Given the description of an element on the screen output the (x, y) to click on. 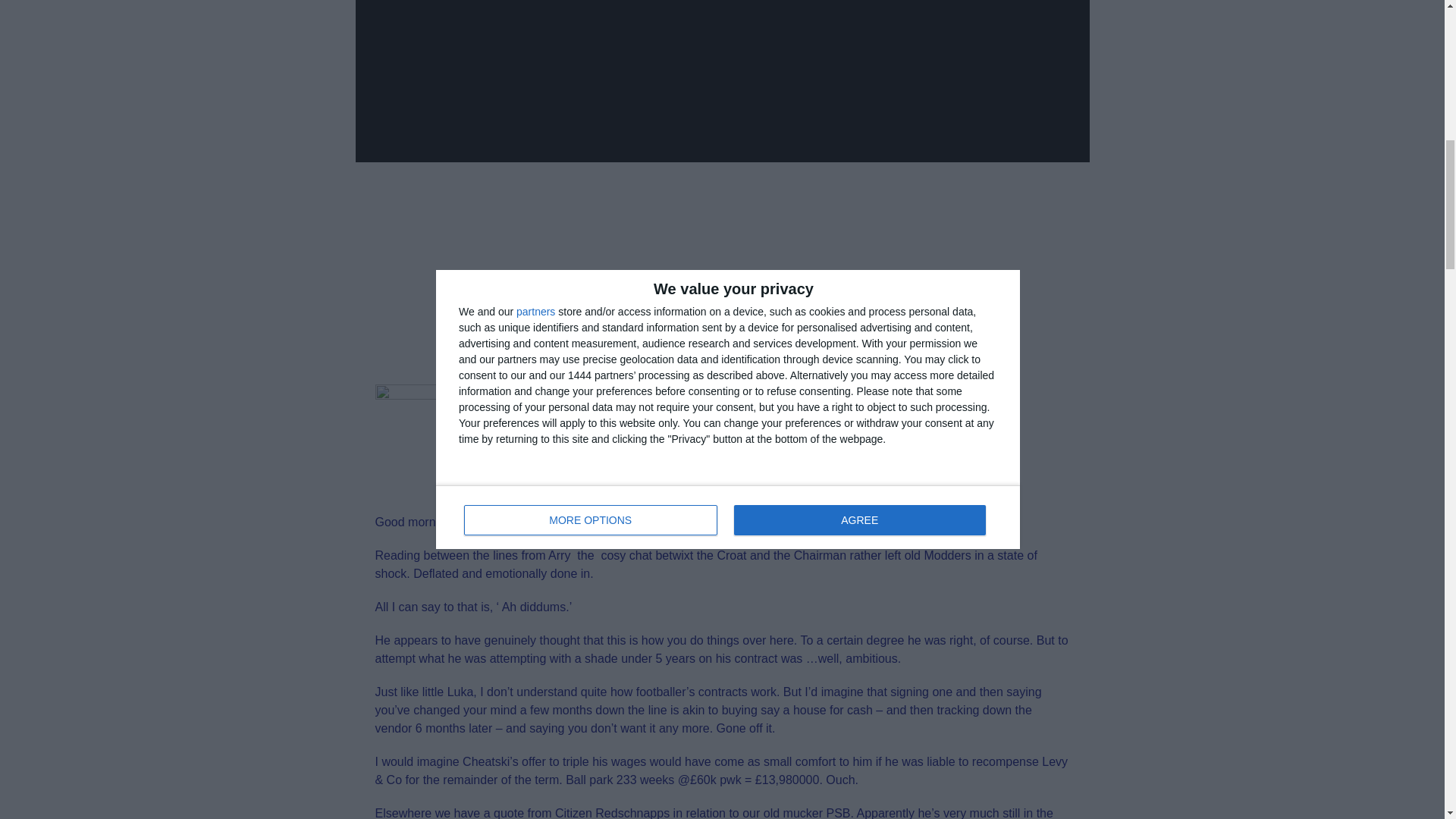
01 (430, 440)
